Given the description of an element on the screen output the (x, y) to click on. 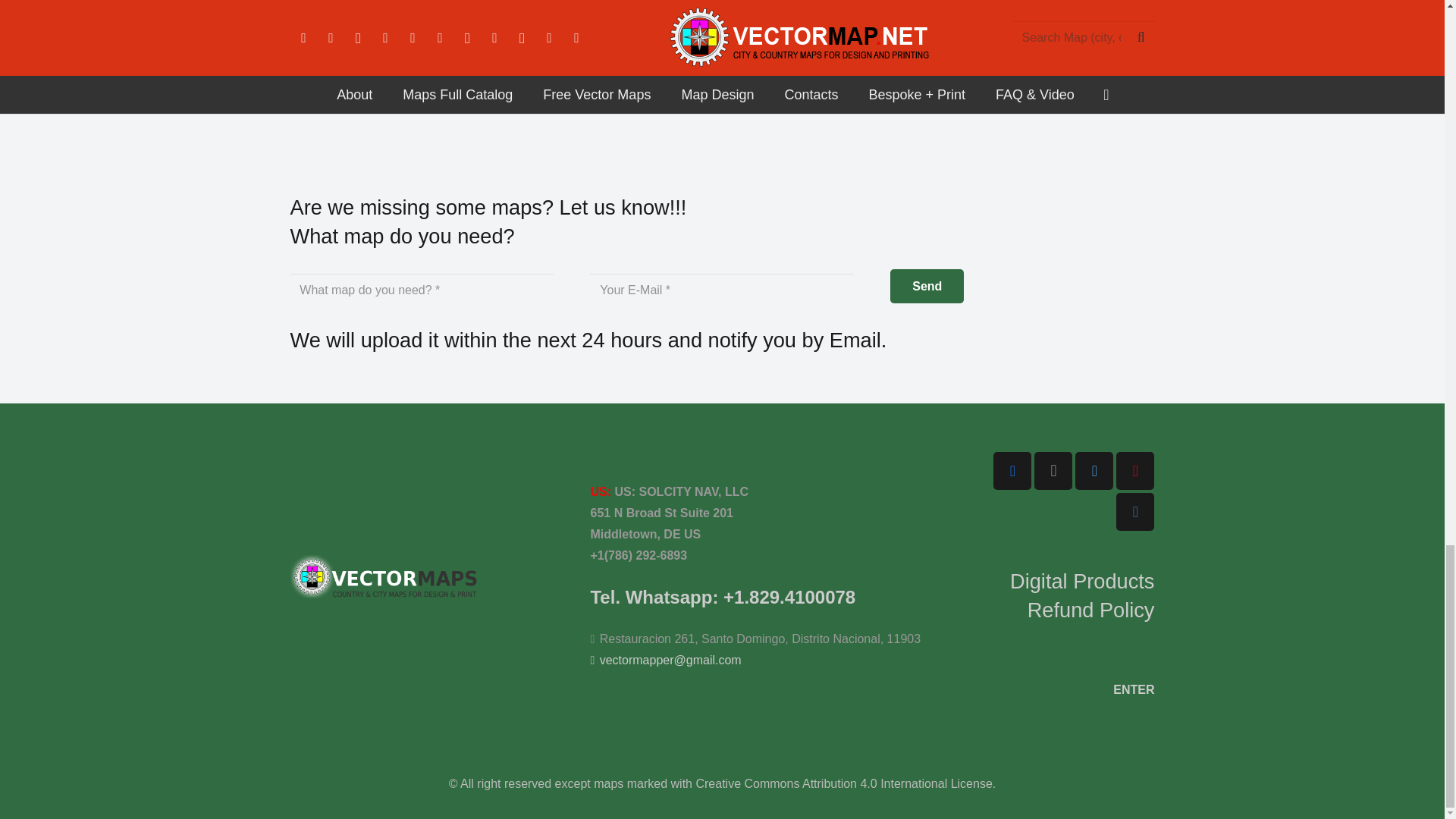
Send (926, 286)
